Given the description of an element on the screen output the (x, y) to click on. 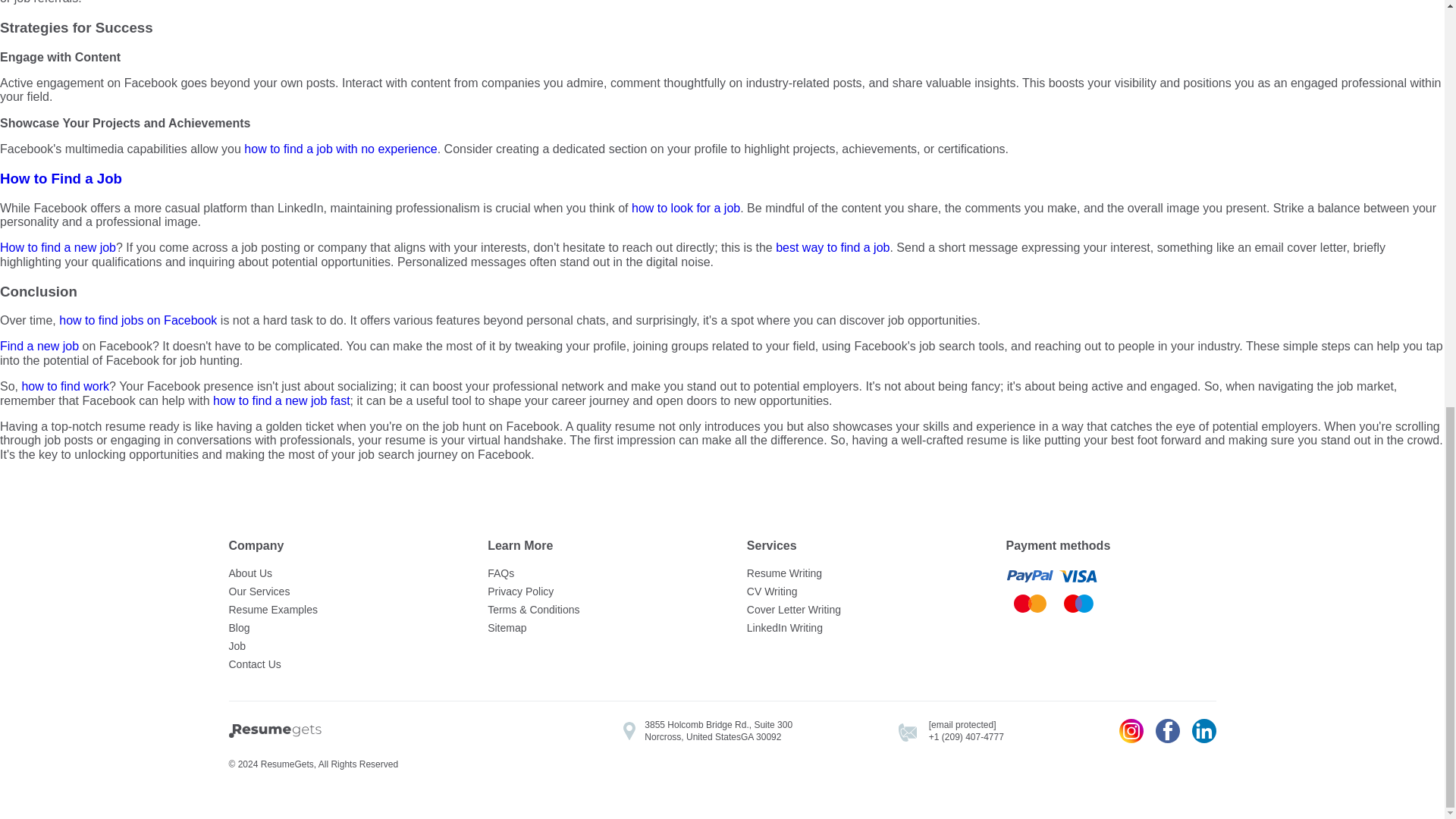
How to find a new job (58, 246)
Sitemap (592, 628)
Job (333, 646)
About Us (333, 573)
how to find a new job fast (281, 400)
how to find a job with no experience (340, 148)
Find a new job (39, 345)
LinkedIn Writing (851, 628)
FAQs (592, 573)
Blog (333, 628)
